Given the description of an element on the screen output the (x, y) to click on. 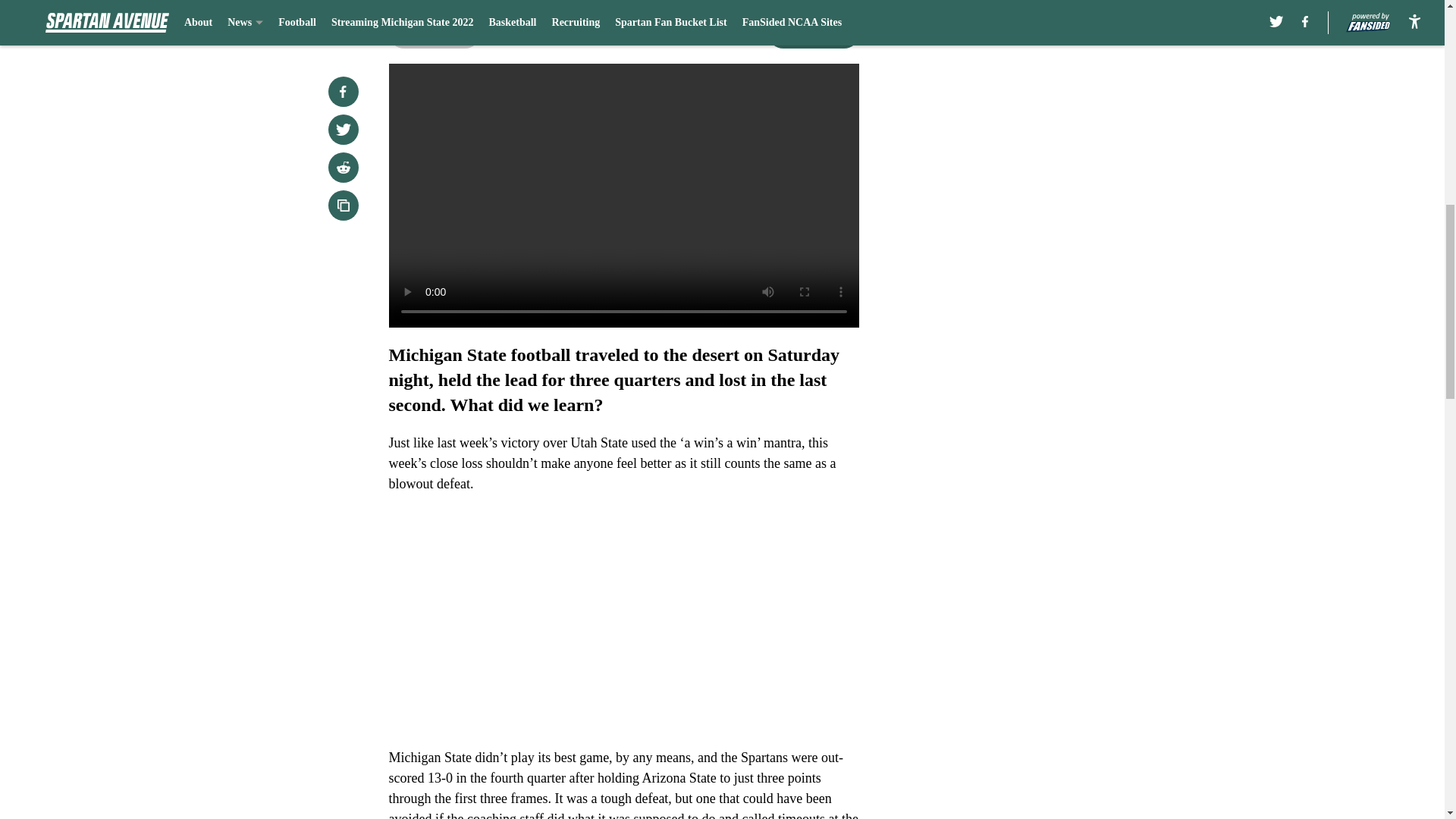
Next (813, 33)
Prev (433, 33)
3rd party ad content (1047, 113)
3rd party ad content (1047, 332)
